Given the description of an element on the screen output the (x, y) to click on. 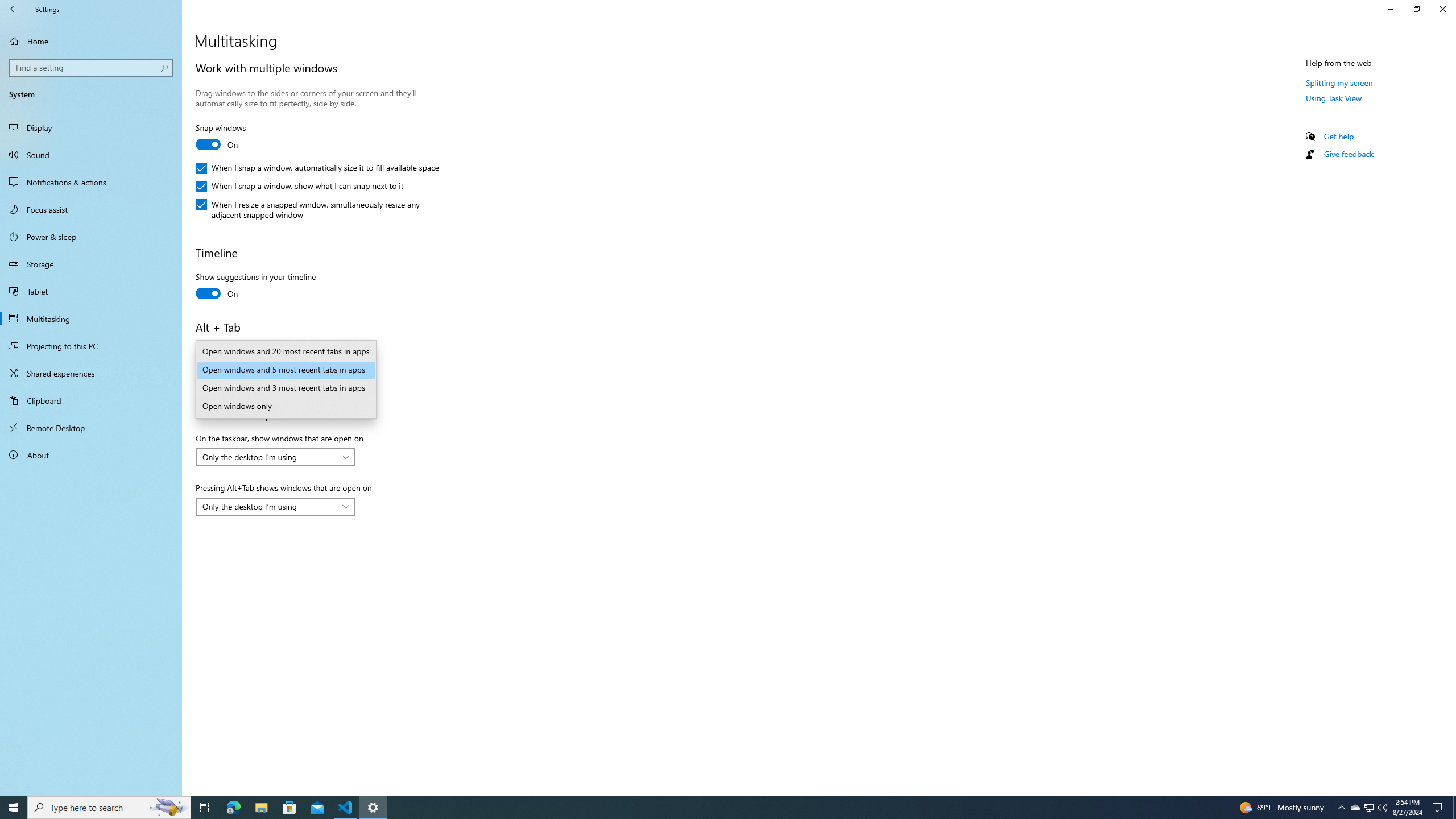
Notifications & actions (91, 181)
Multitasking (91, 318)
Type here to search (108, 807)
Action Center, No new notifications (1439, 807)
Sound (91, 154)
Show suggestions in your timeline (255, 286)
Pressing Alt + Tab shows (275, 370)
Running applications (717, 807)
Tablet (91, 290)
Search highlights icon opens search home window (167, 807)
Back (13, 9)
Task View (204, 807)
Get help (1338, 136)
Open windows only (285, 406)
Open windows and 20 most recent tabs in apps (285, 352)
